Given the description of an element on the screen output the (x, y) to click on. 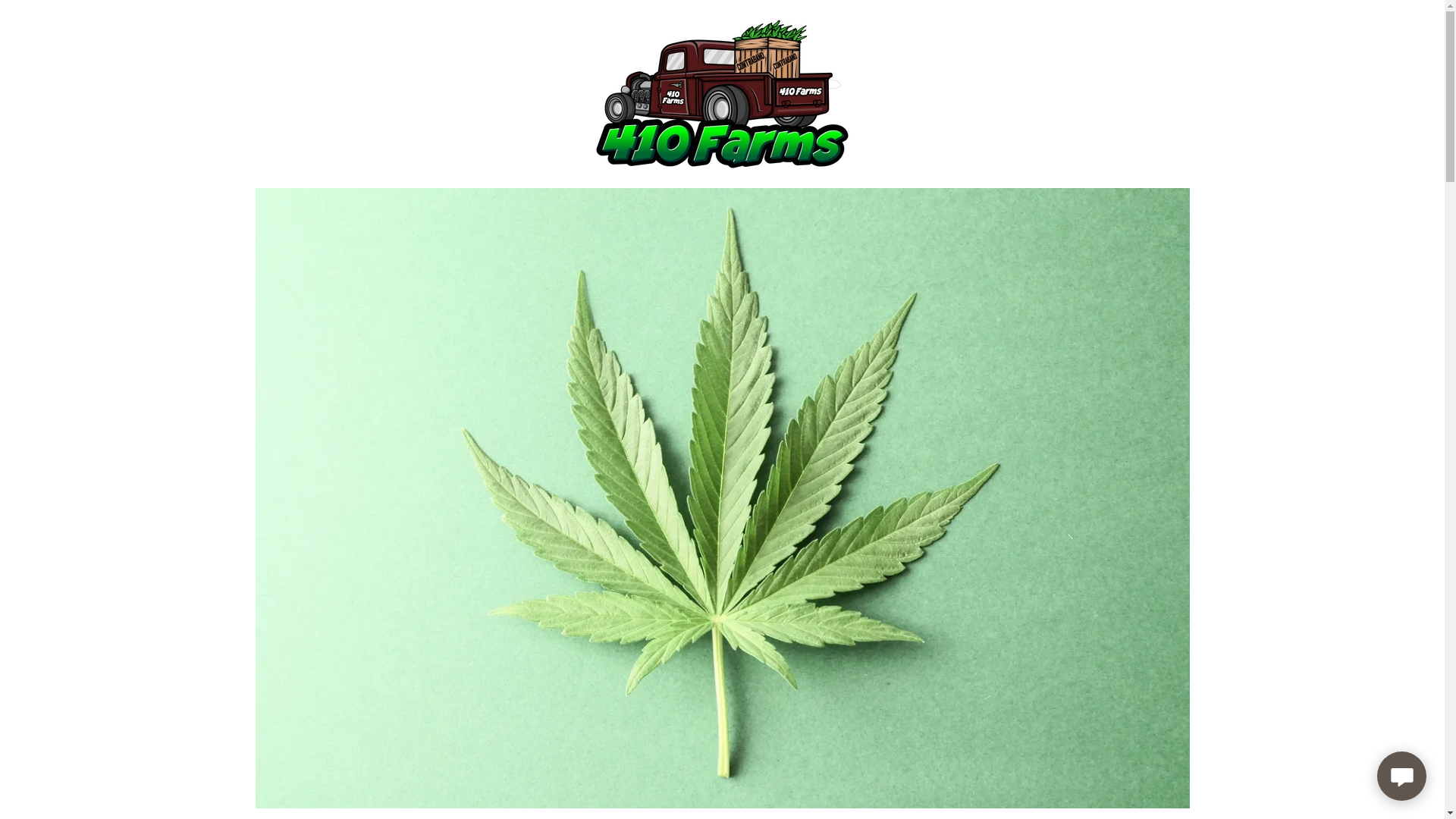
410 Farms Element type: hover (722, 92)
